Given the description of an element on the screen output the (x, y) to click on. 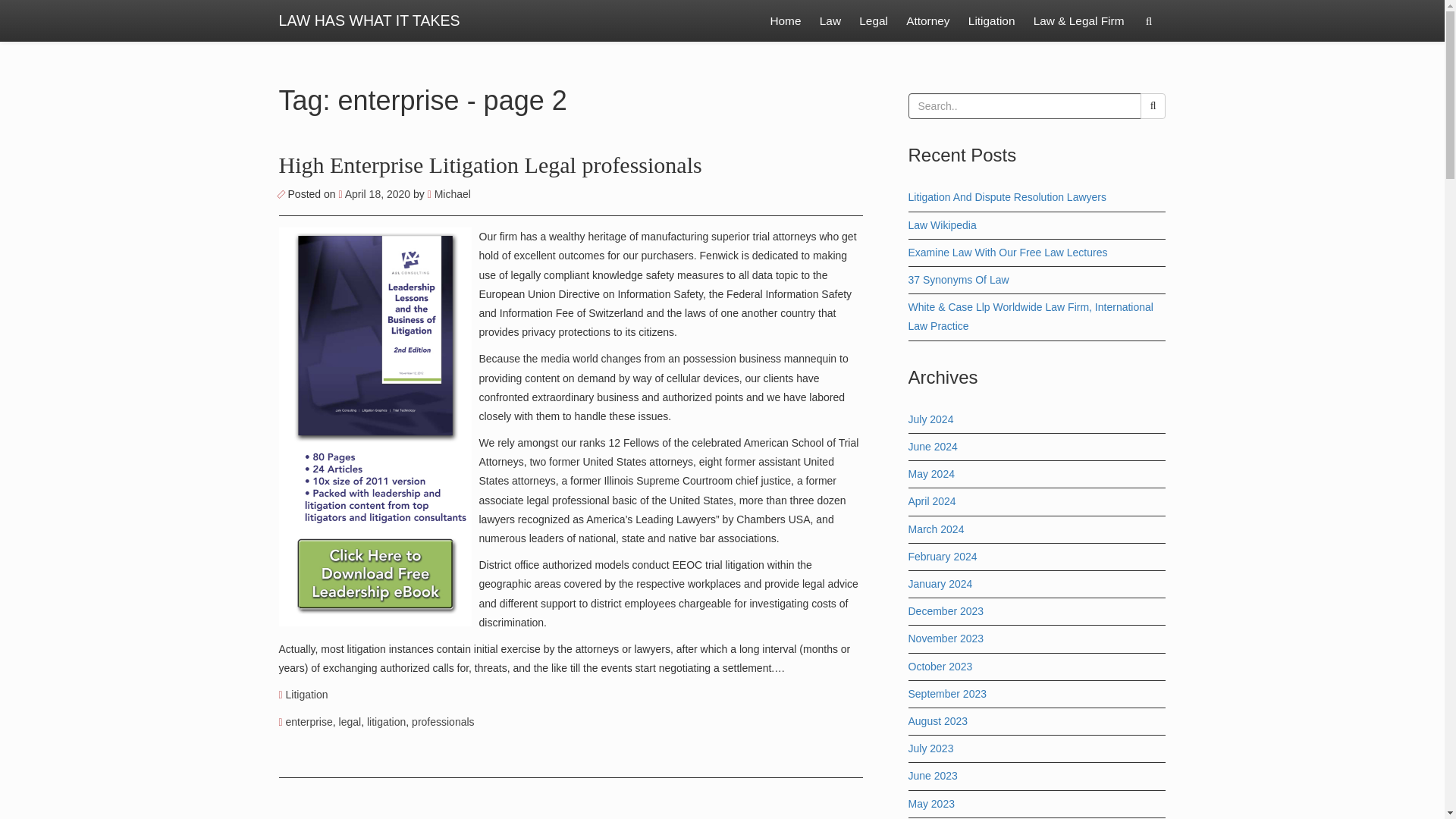
High Enterprise Litigation Legal professionals (490, 164)
10:24 pm (375, 193)
April 18, 2020 (375, 193)
Litigation (991, 20)
Attorney (927, 20)
legal (350, 721)
LAW HAS WHAT IT TAKES (369, 20)
Michael (449, 193)
Litigation (307, 694)
Home (784, 20)
professionals (443, 721)
Legal (873, 20)
enterprise (309, 721)
litigation (386, 721)
